Given the description of an element on the screen output the (x, y) to click on. 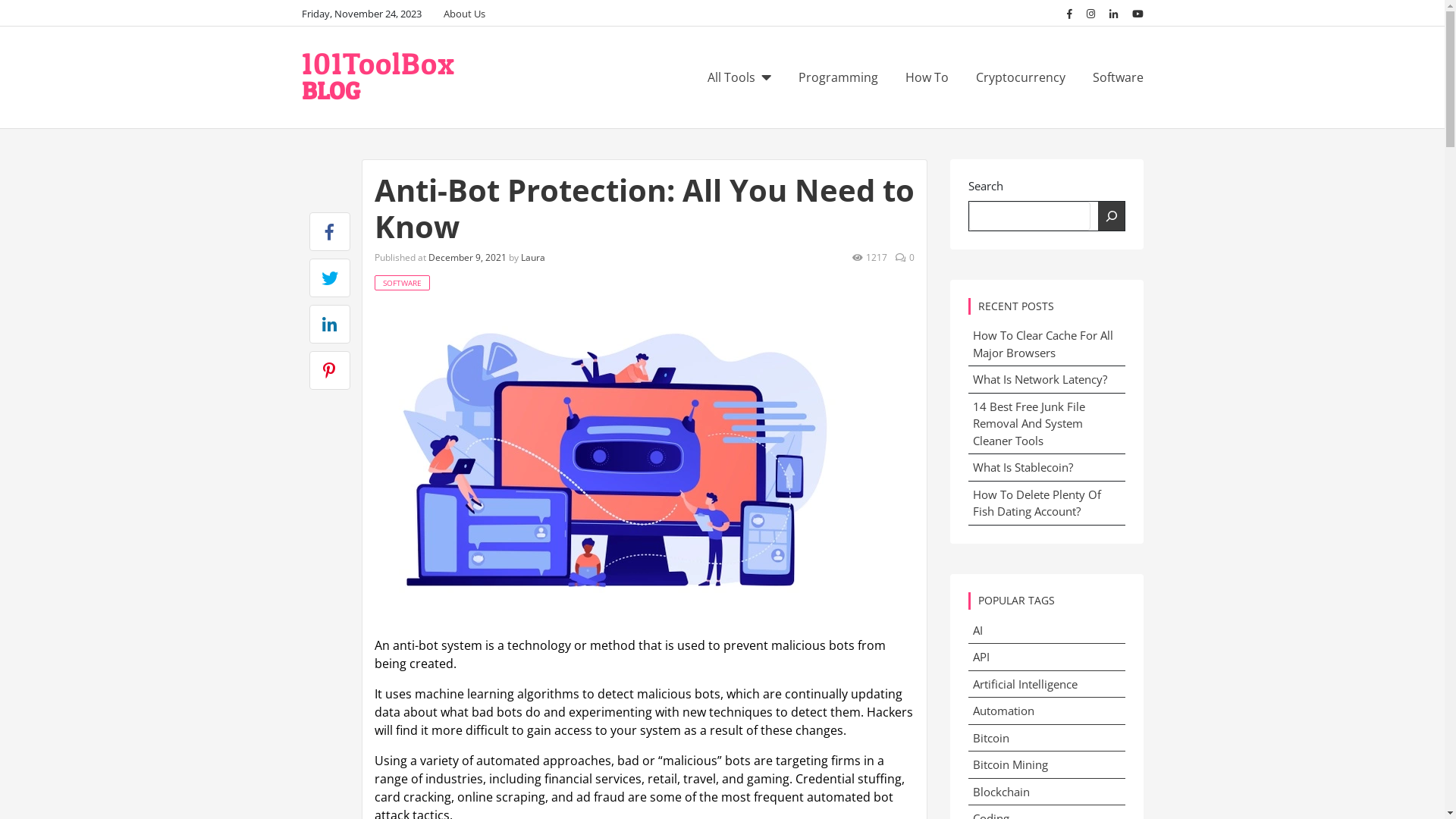
101ToolBox
BLOG Element type: text (378, 77)
How To Element type: text (926, 77)
Laura Element type: text (532, 257)
Bitcoin Mining Element type: text (1045, 764)
December 9, 2021 Element type: text (466, 257)
About Us Element type: text (463, 13)
What Is Network Latency? Element type: text (1039, 378)
How To Clear Cache For All Major Browsers Element type: text (1042, 343)
Software Element type: text (1110, 77)
Artificial Intelligence Element type: text (1045, 684)
Cryptocurrency Element type: text (1019, 77)
API Element type: text (1045, 657)
Blockchain Element type: text (1045, 792)
Bitcoin Element type: text (1045, 738)
What Is Stablecoin? Element type: text (1022, 466)
How To Delete Plenty Of Fish Dating Account? Element type: text (1036, 502)
Programming Element type: text (837, 77)
All Tools Element type: text (738, 77)
SOFTWARE Element type: text (401, 282)
AI Element type: text (1045, 630)
14 Best Free Junk File Removal And System Cleaner Tools Element type: text (1028, 423)
Automation Element type: text (1045, 710)
